Given the description of an element on the screen output the (x, y) to click on. 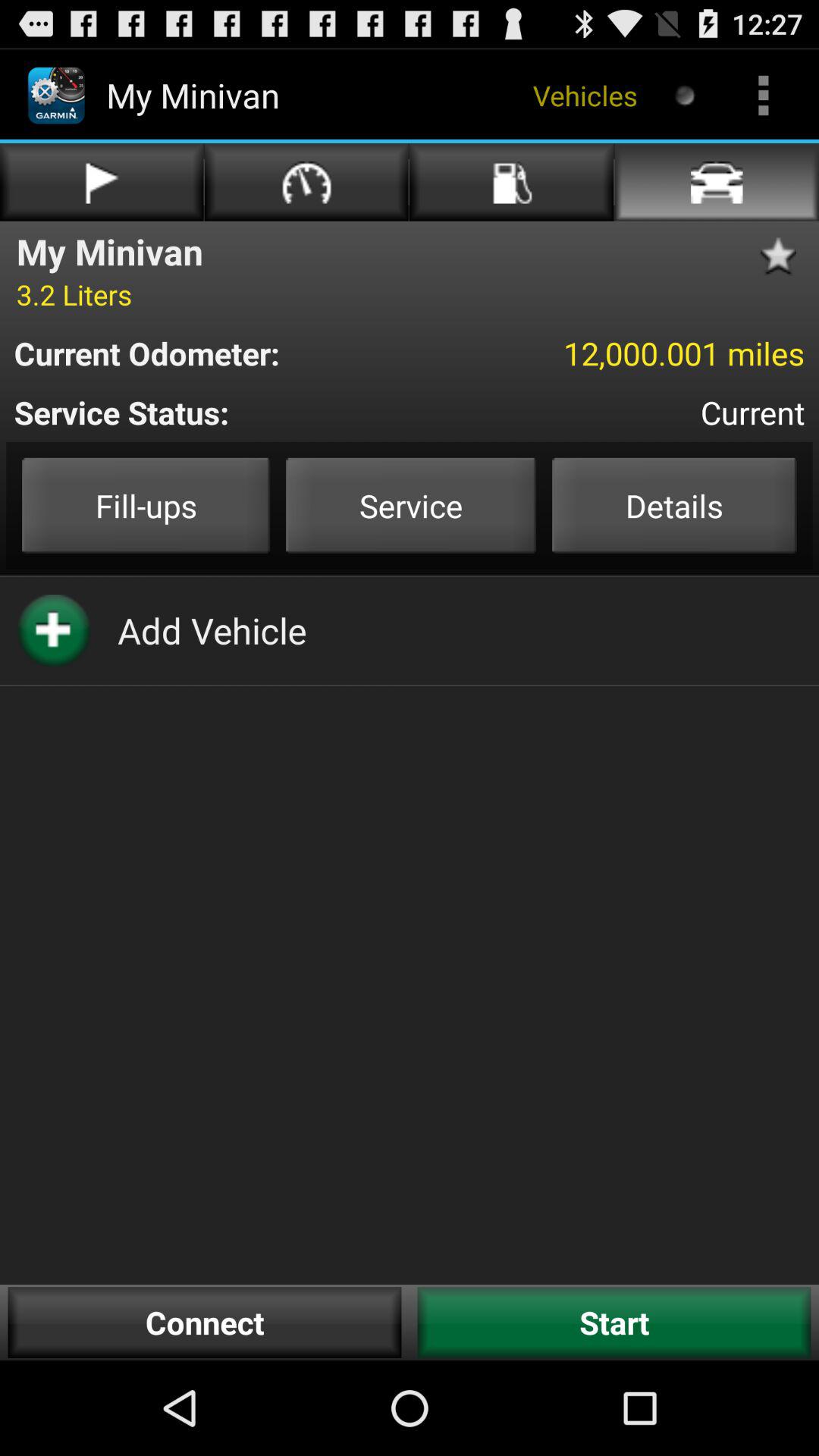
favorite (783, 256)
